Given the description of an element on the screen output the (x, y) to click on. 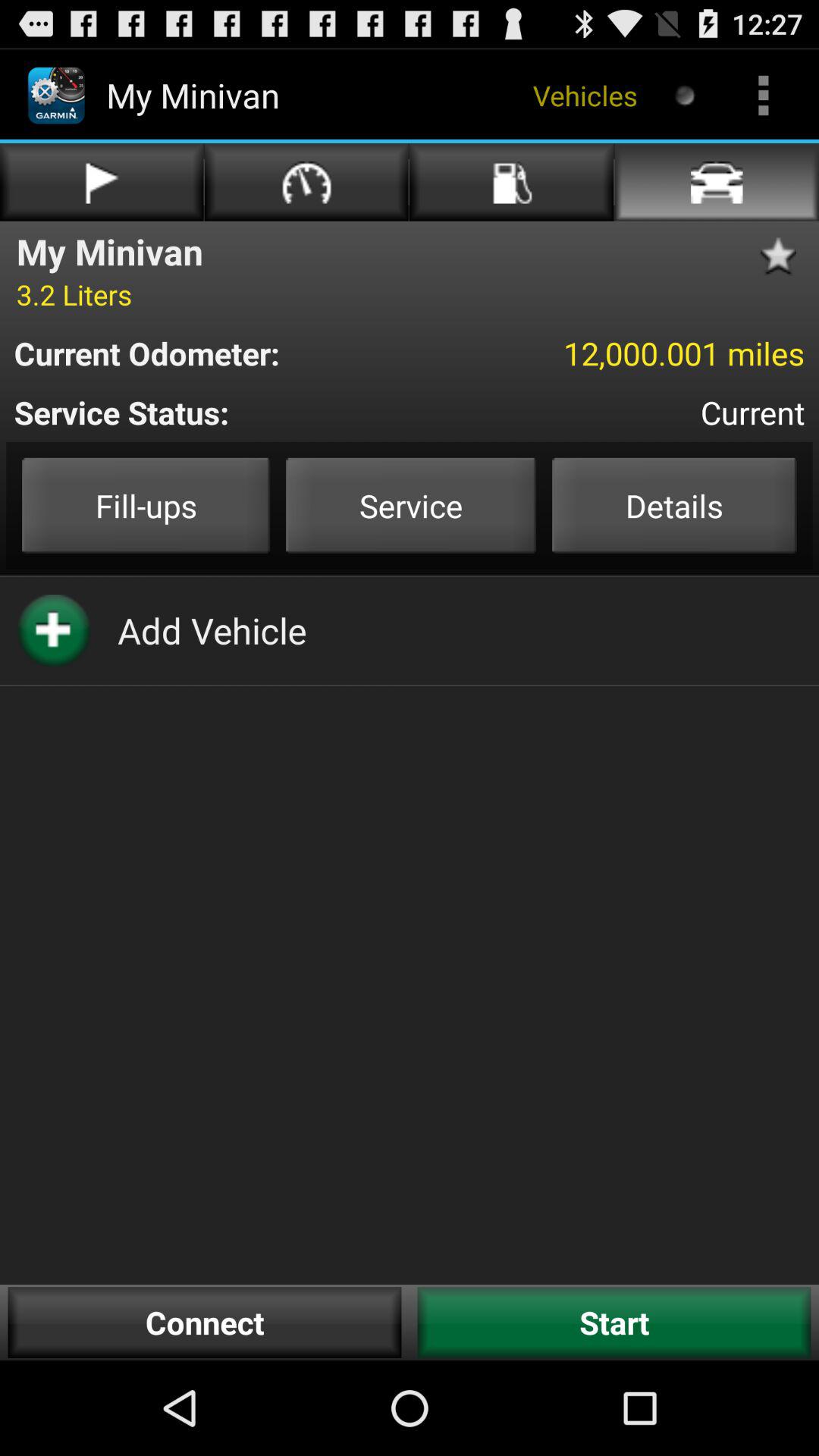
favorite (783, 256)
